Given the description of an element on the screen output the (x, y) to click on. 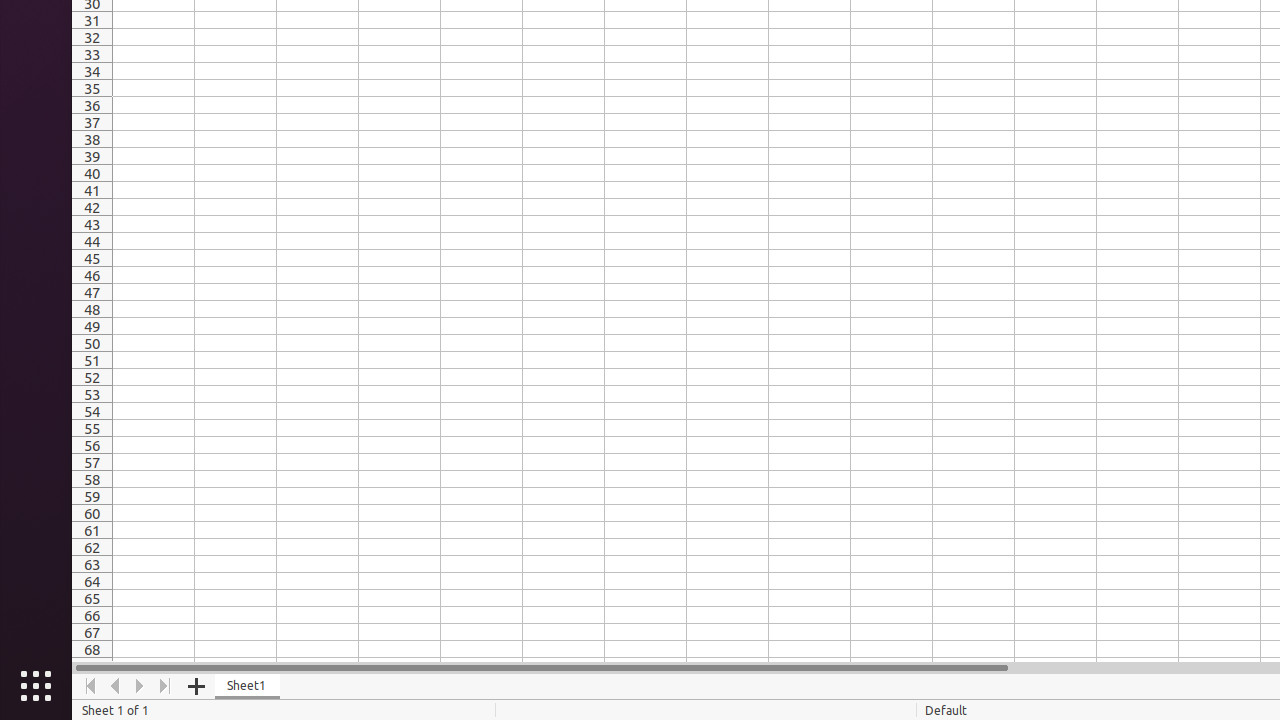
Move To End Element type: push-button (165, 686)
